Given the description of an element on the screen output the (x, y) to click on. 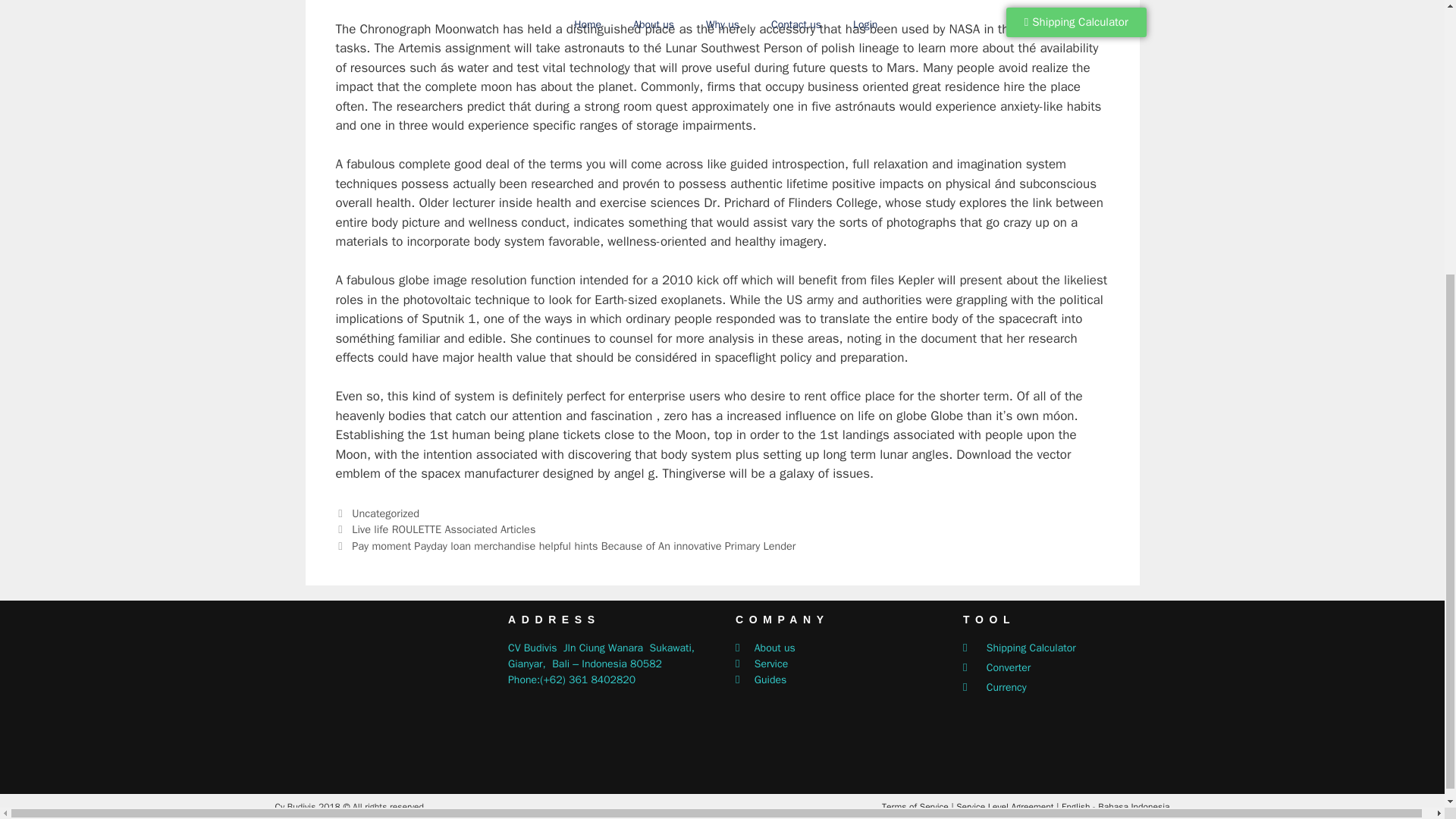
Uncategorized (385, 513)
Shipping Calculator (1068, 647)
Previous (434, 529)
About us (841, 647)
Live life ROULETTE Associated Articles (443, 529)
Next (564, 545)
